Given the description of an element on the screen output the (x, y) to click on. 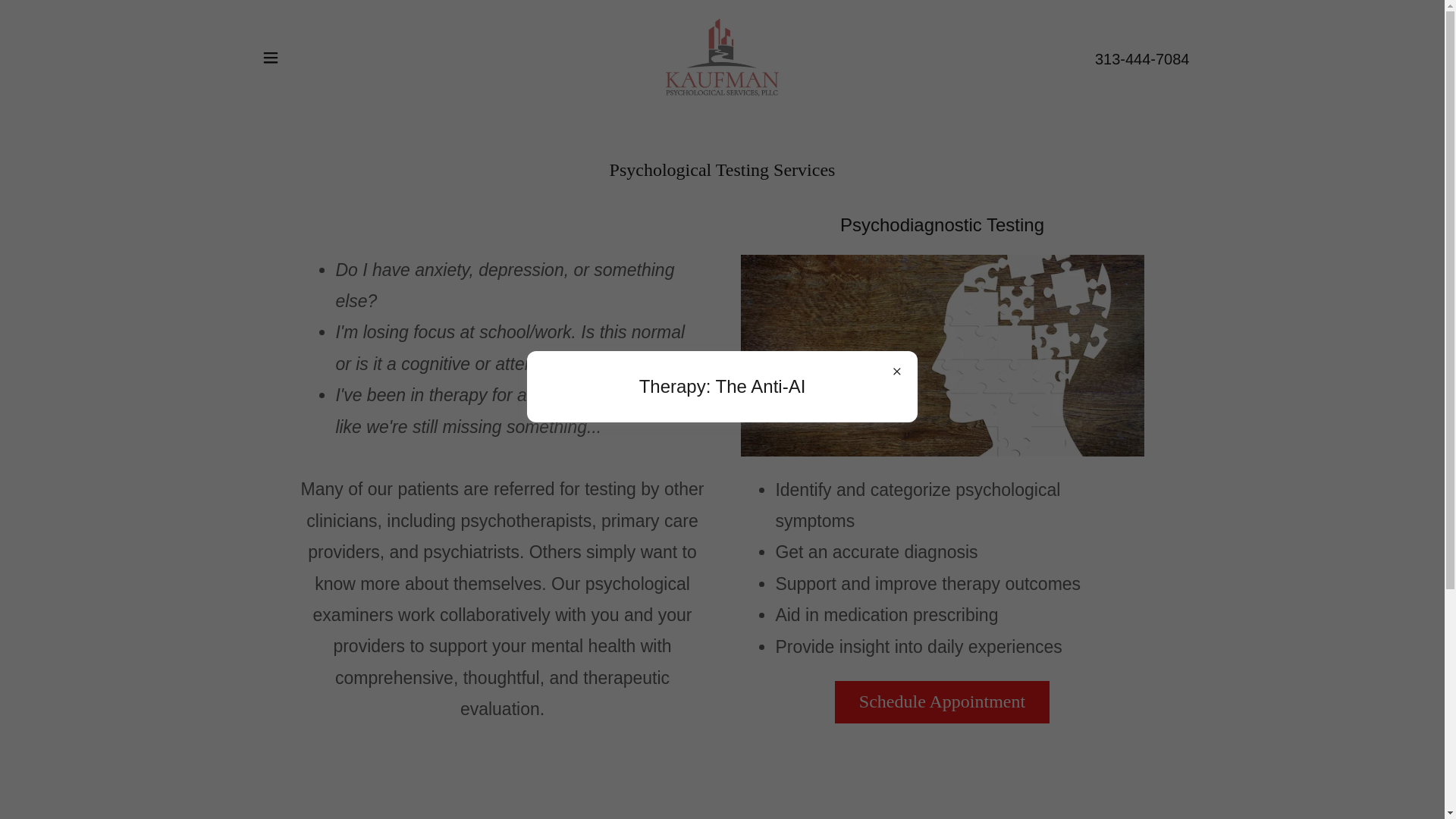
Schedule Appointment (941, 701)
Kaufman Psychological Services, PLLC (721, 56)
313-444-7084 (1141, 57)
